Given the description of an element on the screen output the (x, y) to click on. 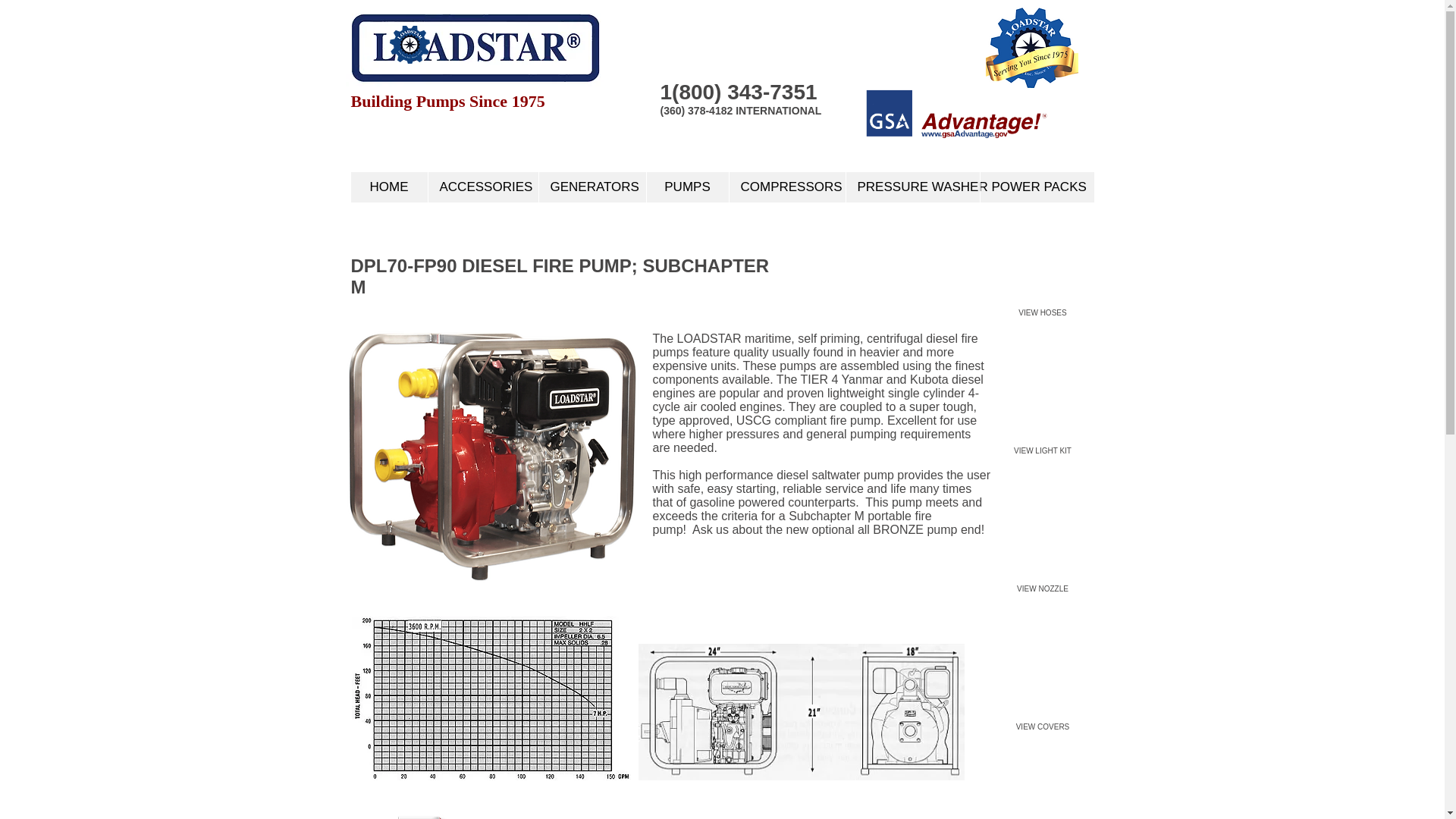
HOME (388, 186)
PRESSURE WASHER (911, 186)
DSSP-3PT-FPG-HHLF-036.png (491, 456)
DPL70-FP90.pdf (427, 799)
COMPRESSORS (786, 186)
GENERATORS (592, 186)
logo.web.6.27.png (409, 44)
VIEW WHEEL KITS (1042, 806)
ACCESSORIES (483, 186)
POWER PACKS (1036, 186)
PUMPS (687, 186)
